Given the description of an element on the screen output the (x, y) to click on. 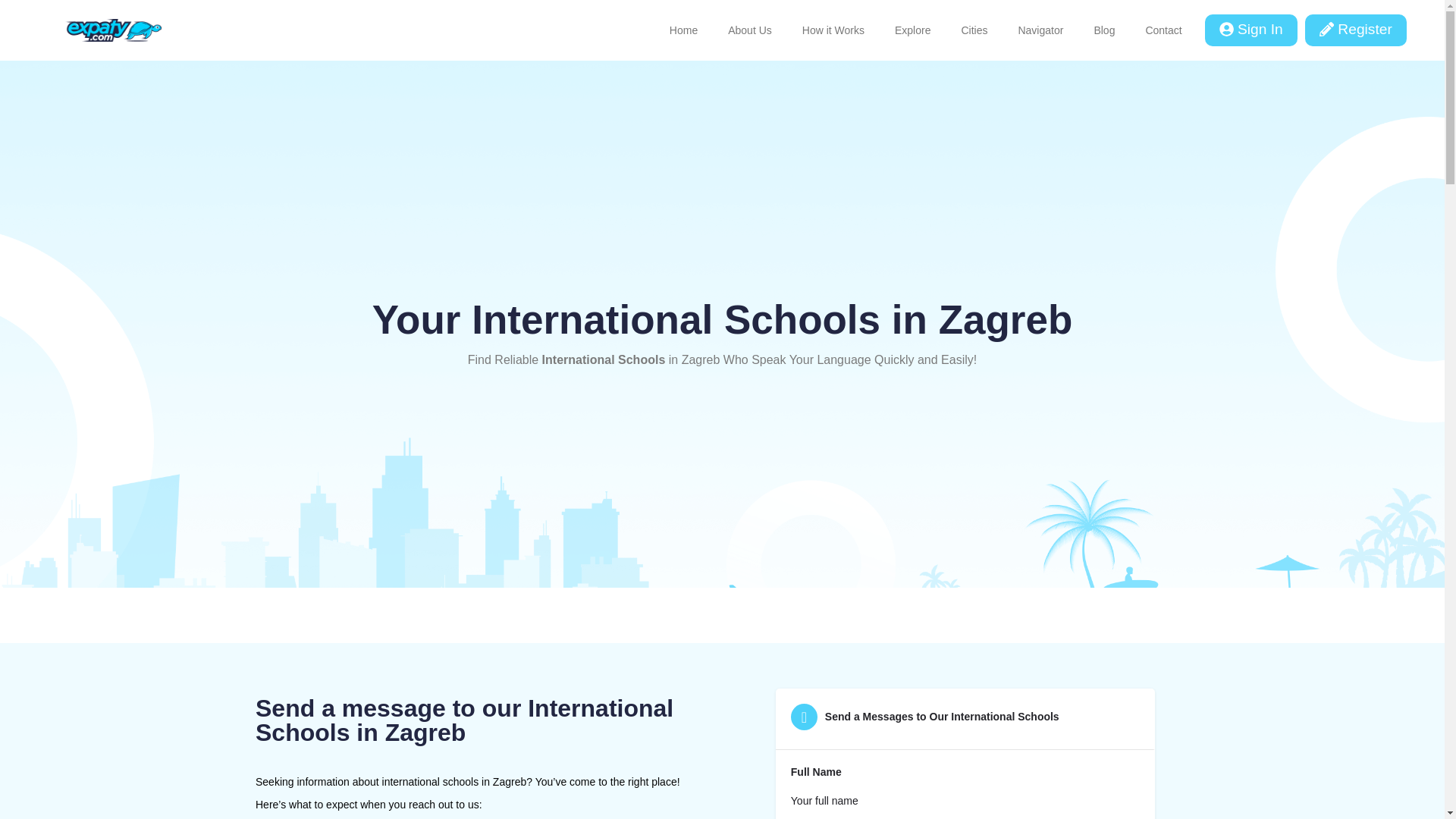
How it Works (833, 30)
Blog (1103, 30)
Home (683, 30)
About Us (750, 30)
Cities (973, 30)
Contact (1162, 30)
Navigator (1040, 30)
Explore (911, 30)
